Given the description of an element on the screen output the (x, y) to click on. 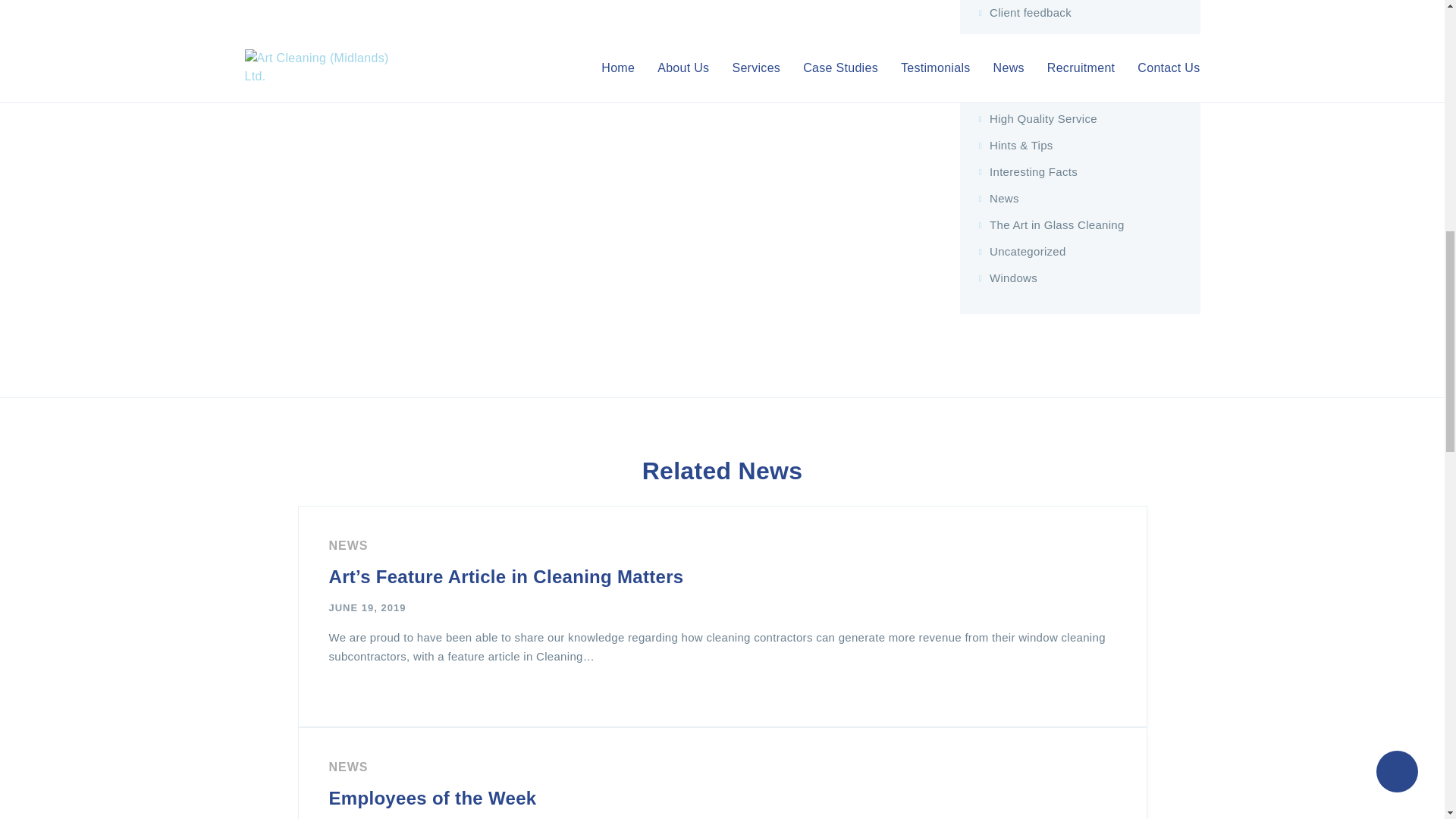
News (348, 545)
News (348, 766)
Employees of the Week (433, 797)
